Given the description of an element on the screen output the (x, y) to click on. 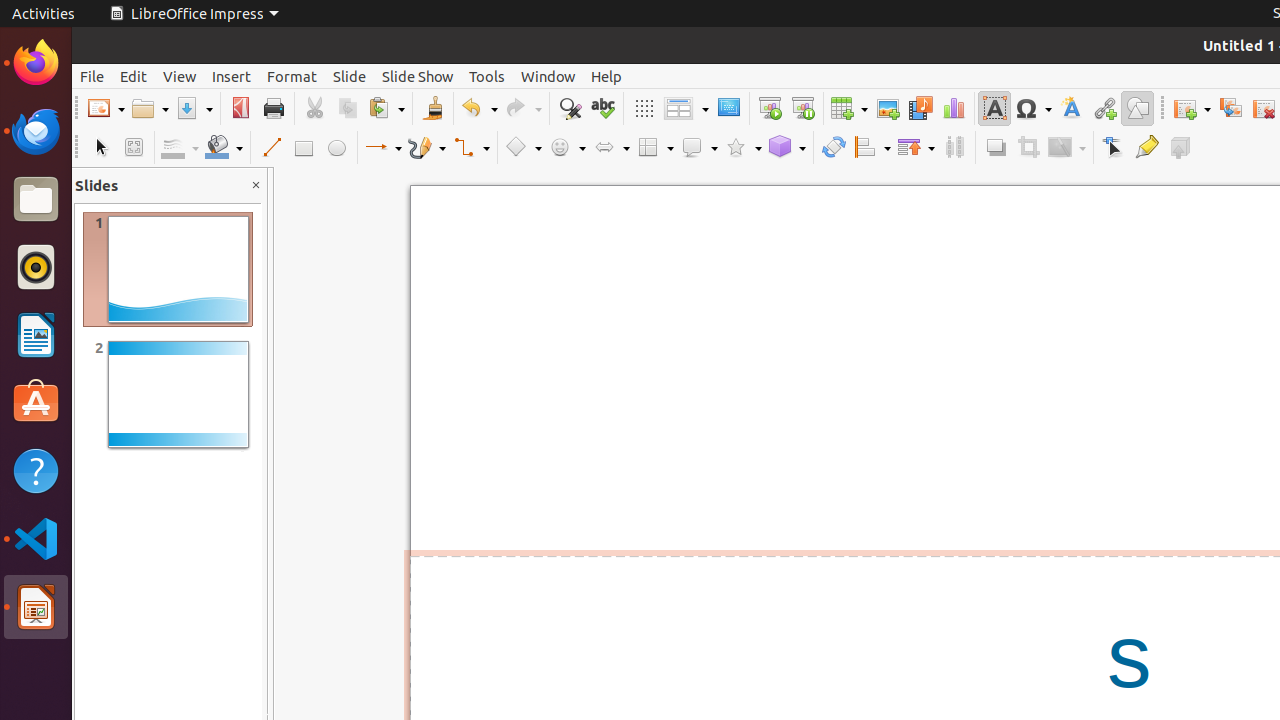
Align Element type: push-button (872, 147)
Paste Element type: push-button (386, 108)
Glue Points Element type: push-button (1146, 147)
Format Element type: menu (292, 76)
